Given the description of an element on the screen output the (x, y) to click on. 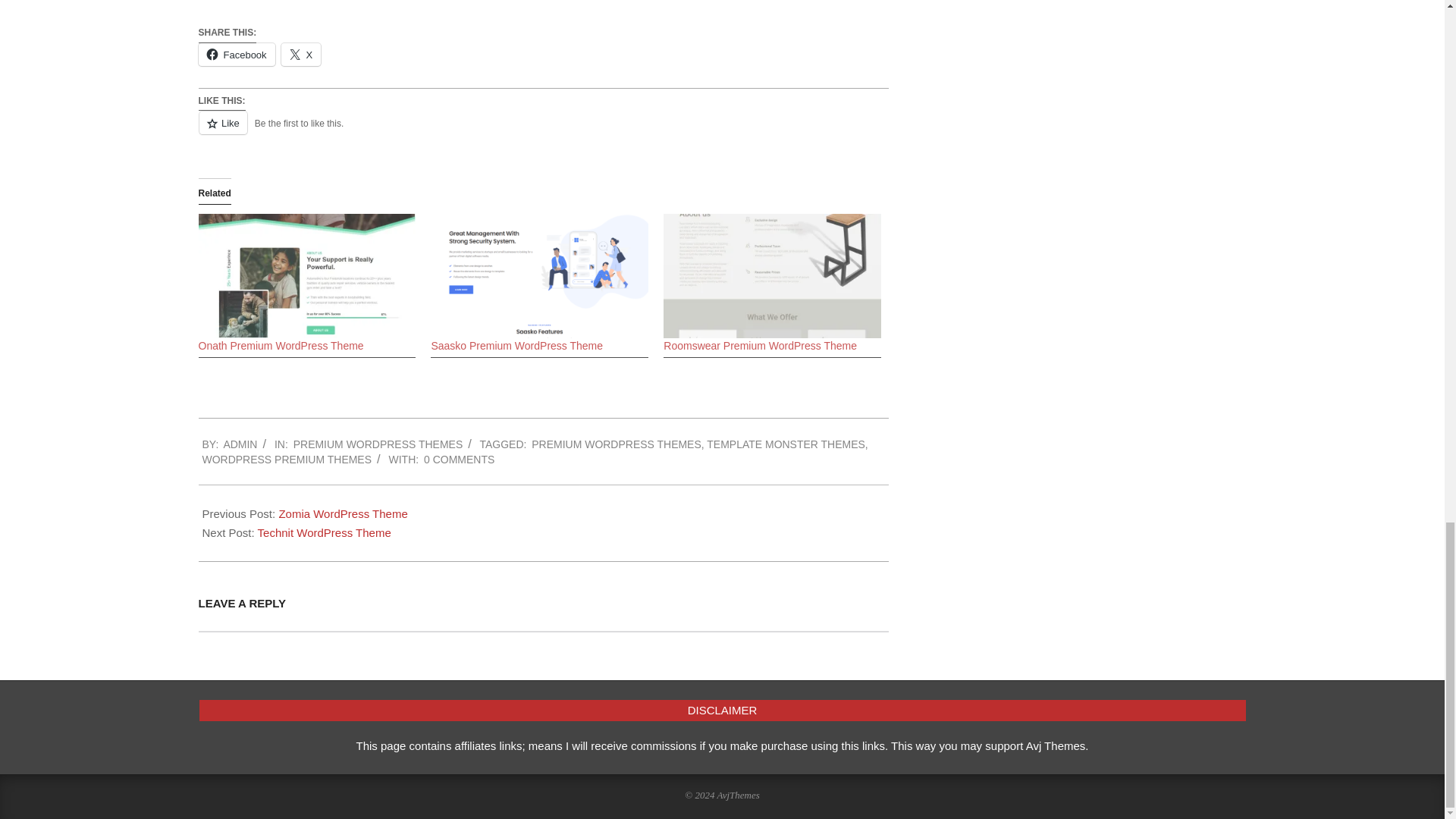
X (301, 54)
Roomswear Premium WordPress Theme (760, 345)
TEMPLATE MONSTER THEMES (785, 444)
Zomia WordPress Theme (342, 513)
Saasko Premium WordPress Theme (538, 275)
Like or Reblog (543, 131)
0 COMMENTS (459, 459)
ADMIN (239, 444)
Onath Premium WordPress Theme (307, 275)
Onath Premium WordPress Theme (281, 345)
Posts by admin (239, 444)
Click to share on Facebook (236, 54)
Onath Premium WordPress Theme (281, 345)
Saasko Premium WordPress Theme (516, 345)
Technit WordPress Theme (324, 532)
